Given the description of an element on the screen output the (x, y) to click on. 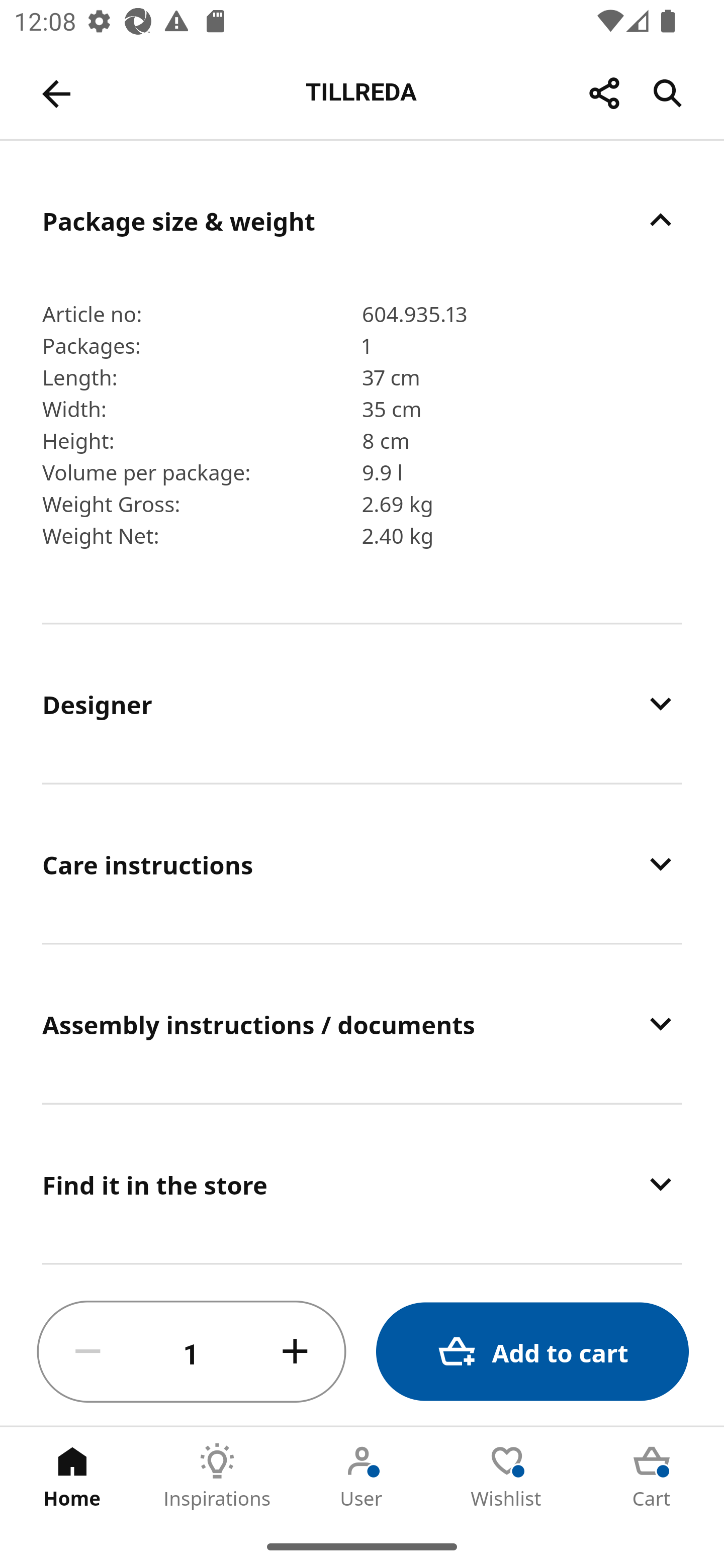
Package size & weight (361, 219)
Designer (361, 702)
Care instructions (361, 863)
Assembly instructions / documents (361, 1023)
Find it in the store (361, 1183)
Add to cart (531, 1352)
1 (191, 1352)
Home
Tab 1 of 5 (72, 1476)
Inspirations
Tab 2 of 5 (216, 1476)
User
Tab 3 of 5 (361, 1476)
Wishlist
Tab 4 of 5 (506, 1476)
Cart
Tab 5 of 5 (651, 1476)
